Given the description of an element on the screen output the (x, y) to click on. 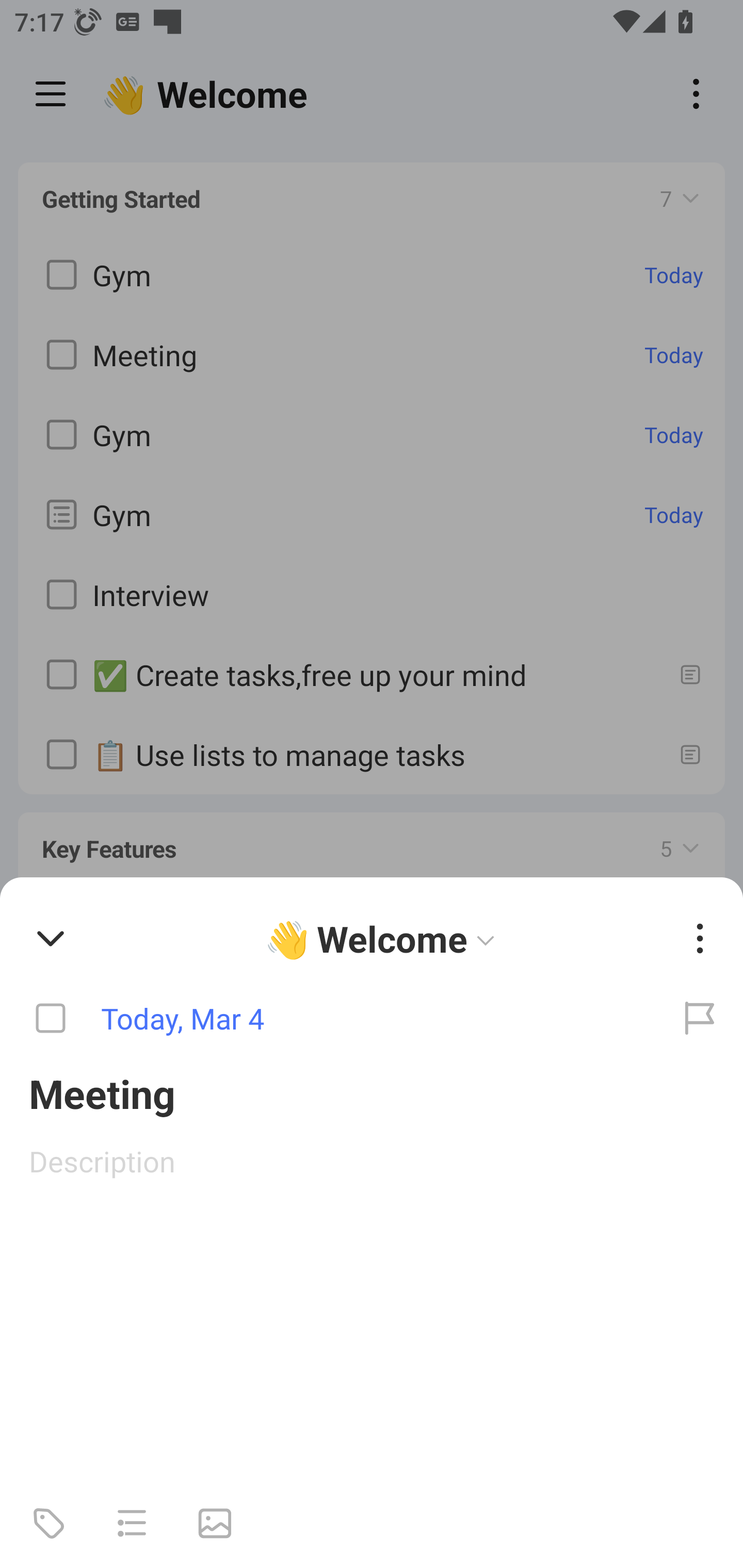
👋 Welcome (384, 938)
Today, Mar 4  (328, 1019)
Meeting (371, 1092)
Description (371, 1160)
Description (371, 1160)
